Given the description of an element on the screen output the (x, y) to click on. 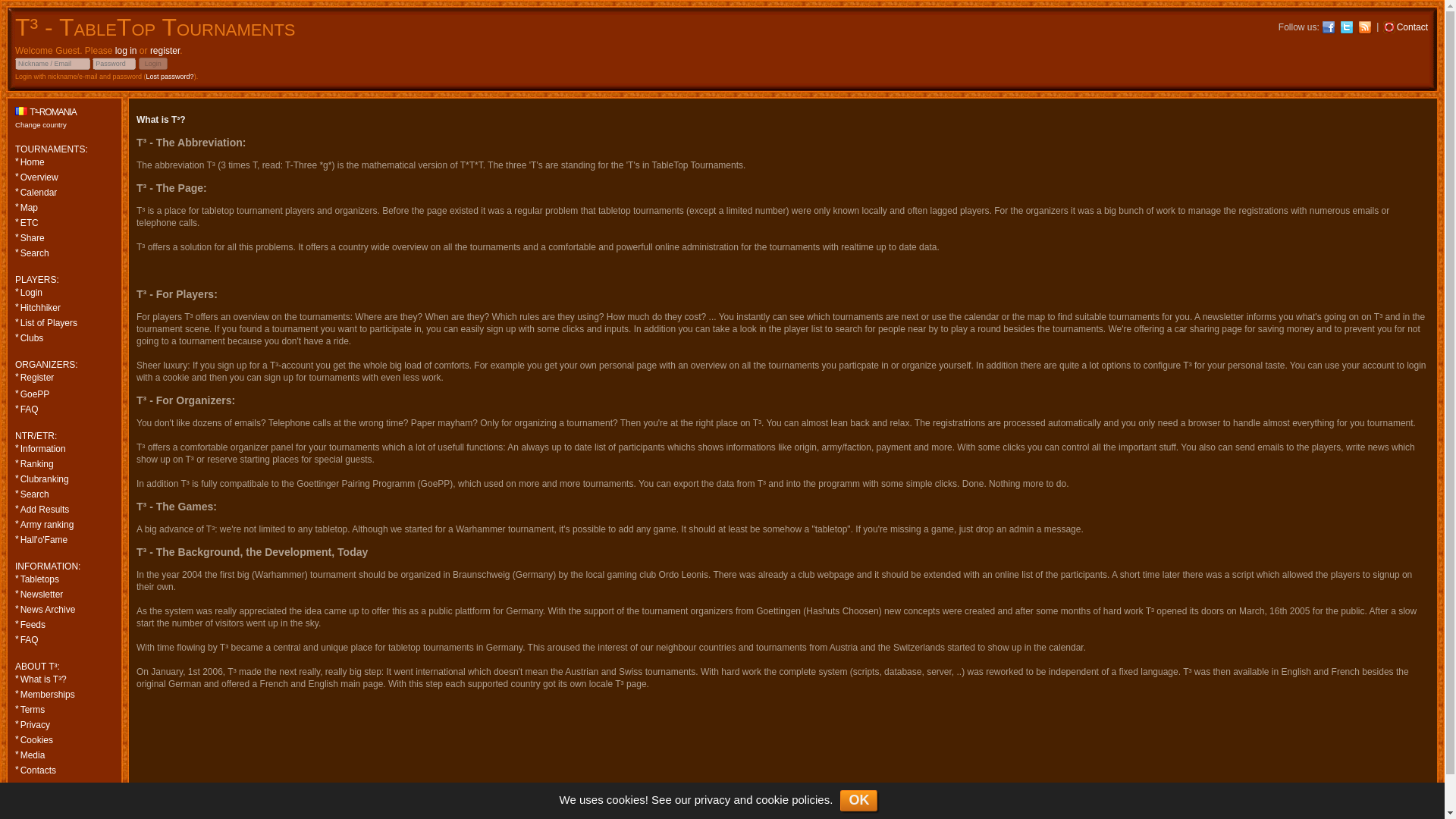
ETC (63, 223)
Clubs (63, 337)
register (164, 50)
cookie (772, 799)
Login (152, 63)
Share (63, 237)
Search (63, 253)
Login (63, 292)
Map (63, 207)
Lost password? (170, 76)
